Given the description of an element on the screen output the (x, y) to click on. 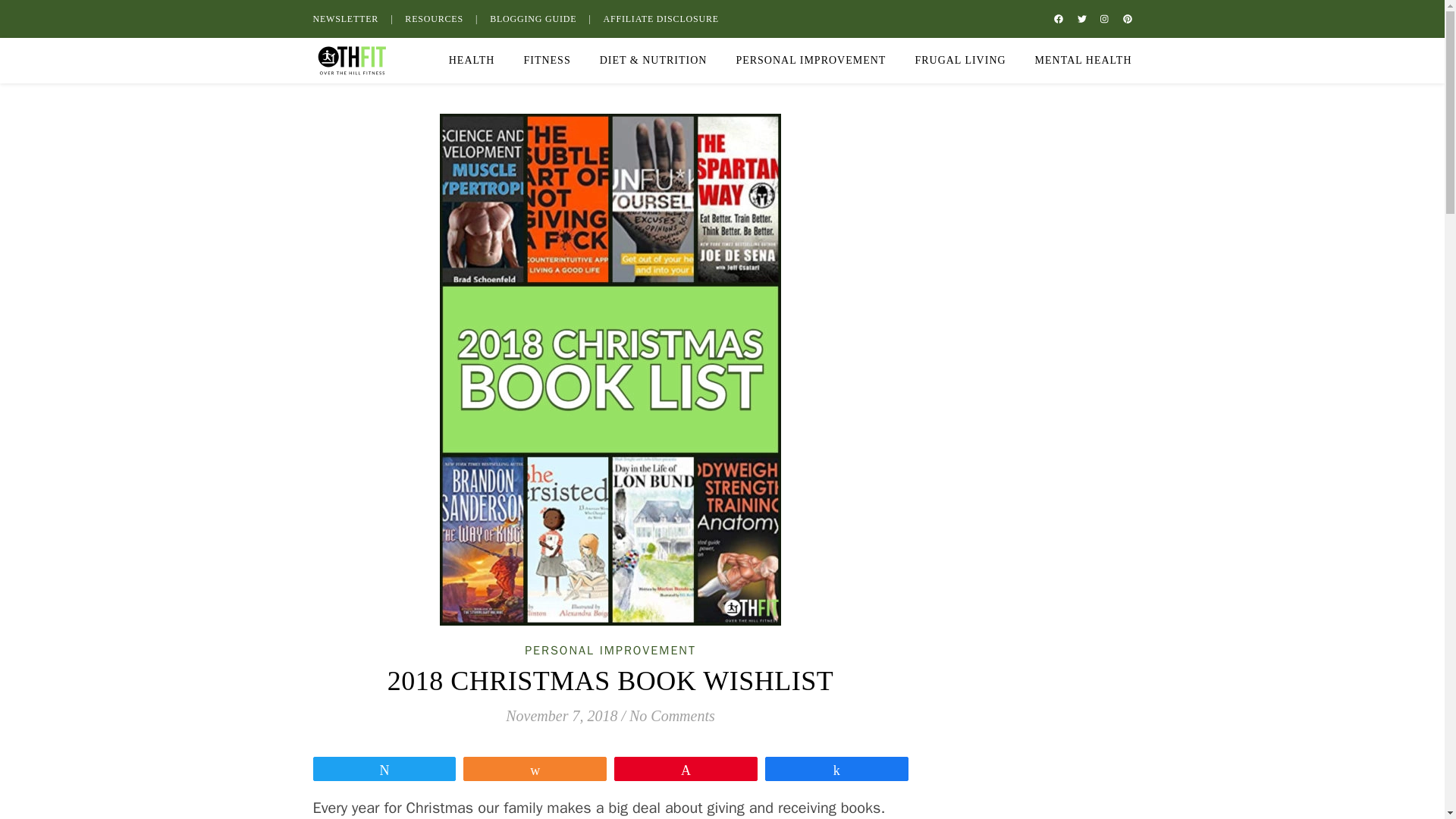
FRUGAL LIVING (959, 60)
No Comments (671, 715)
RESOURCES (441, 18)
PERSONAL IMPROVEMENT (609, 650)
AFFILIATE DISCLOSURE (659, 18)
FITNESS (546, 60)
MENTAL HEALTH (1077, 60)
HEALTH (477, 60)
OthFit (350, 60)
BLOGGING GUIDE (540, 18)
NEWSLETTER (354, 18)
PERSONAL IMPROVEMENT (810, 60)
